Given the description of an element on the screen output the (x, y) to click on. 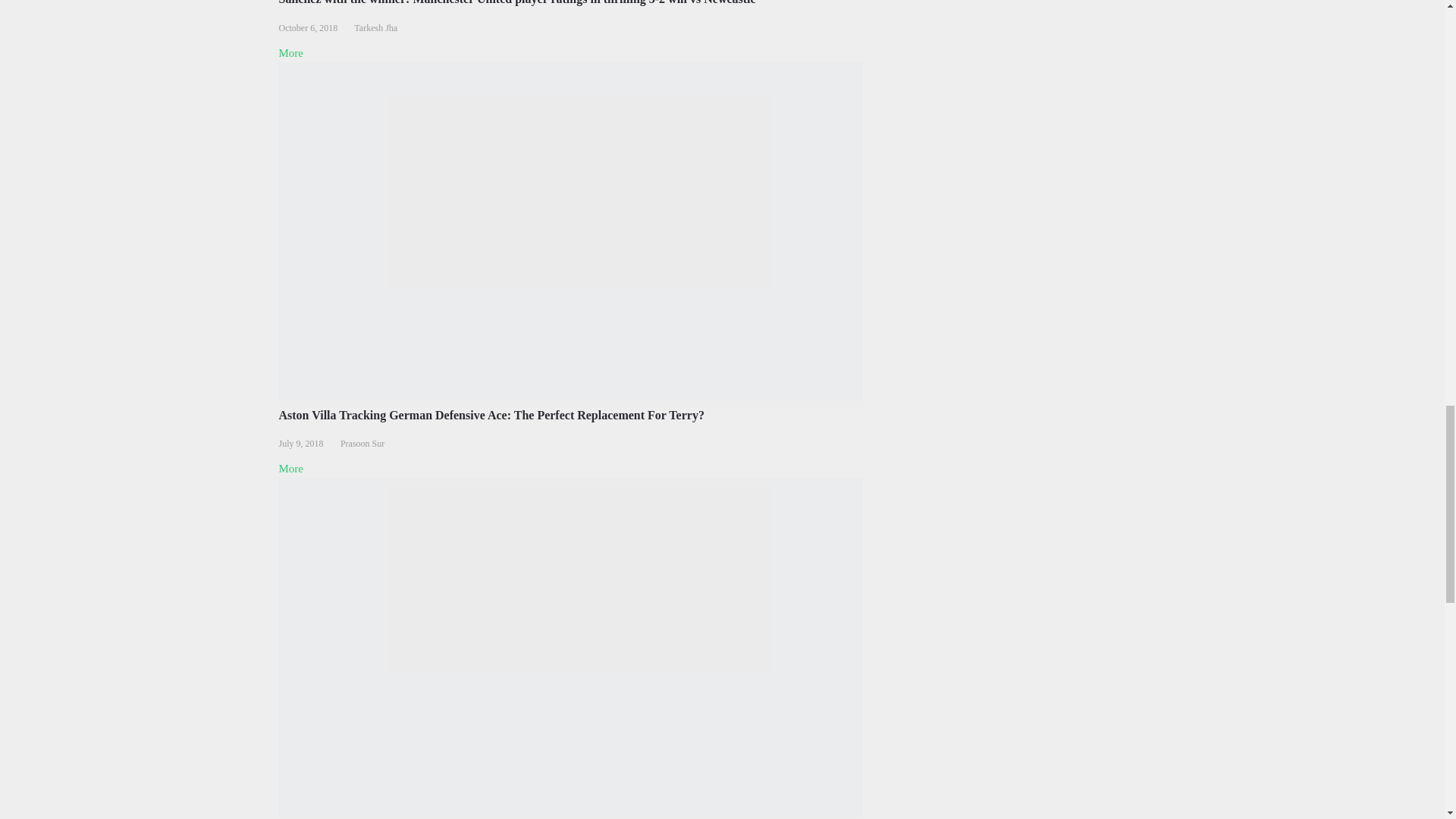
Posts by Prasoon Sur (362, 443)
Posts by Tarkesh Jha (375, 27)
